Given the description of an element on the screen output the (x, y) to click on. 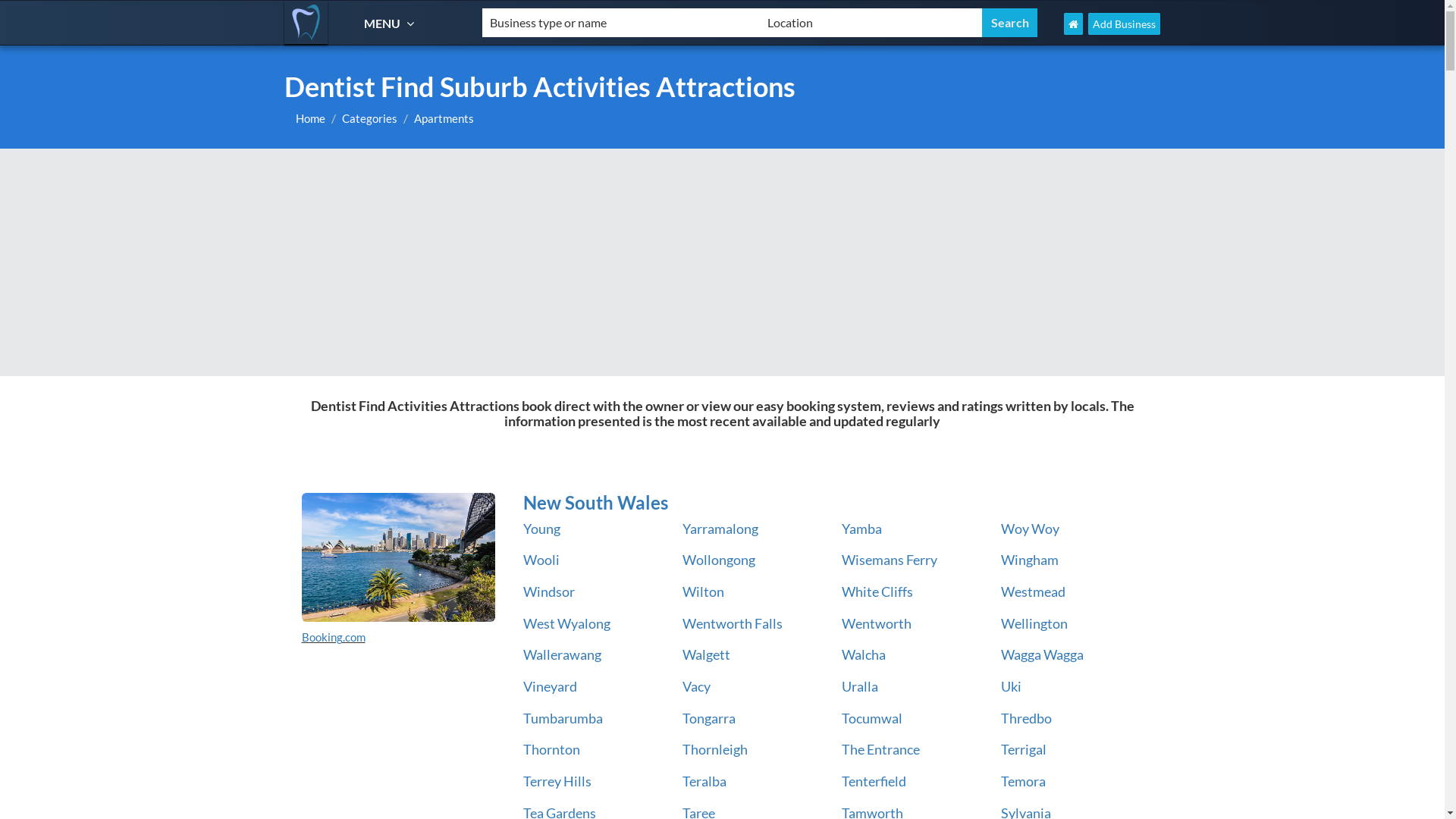
Terrigal Element type: text (1023, 748)
Westmead Element type: text (1033, 591)
Woy Woy Element type: text (1030, 528)
Wooli Element type: text (541, 559)
MENU Element type: text (390, 22)
Uralla Element type: text (859, 685)
Booking.com Element type: text (333, 636)
Wellington Element type: text (1034, 623)
Walgett Element type: text (706, 654)
Yarramalong Element type: text (720, 528)
Wingham Element type: text (1029, 559)
Wollongong Element type: text (718, 559)
Tumbarumba Element type: text (562, 717)
Tocumwal Element type: text (871, 717)
The Entrance Element type: text (880, 748)
Thornton Element type: text (551, 748)
Terrey Hills Element type: text (557, 780)
Wentworth Falls Element type: text (732, 623)
Wagga Wagga Element type: text (1042, 654)
Uki Element type: text (1011, 685)
Search Element type: text (1009, 22)
Vacy Element type: text (696, 685)
Apartments Element type: text (443, 118)
West Wyalong Element type: text (566, 623)
Wilton Element type: text (703, 591)
Yamba Element type: text (861, 528)
Tongarra Element type: text (708, 717)
Home Element type: text (310, 118)
Wallerawang Element type: text (562, 654)
Wisemans Ferry Element type: text (889, 559)
Vineyard Element type: text (550, 685)
Young Element type: text (541, 528)
Advertisement Element type: hover (721, 262)
Teralba Element type: text (704, 780)
Walcha Element type: text (863, 654)
Add Business Element type: text (1124, 23)
Categories Element type: text (369, 118)
Tenterfield Element type: text (873, 780)
Thredbo Element type: text (1026, 717)
White Cliffs Element type: text (877, 591)
Wentworth Element type: text (876, 623)
New South Wales Element type: hover (398, 556)
Temora Element type: text (1023, 780)
Windsor Element type: text (548, 591)
New South Wales Element type: text (830, 502)
Thornleigh Element type: text (714, 748)
Dentist Find Home Page Element type: hover (1072, 23)
Dentist Find Element type: hover (305, 21)
